Given the description of an element on the screen output the (x, y) to click on. 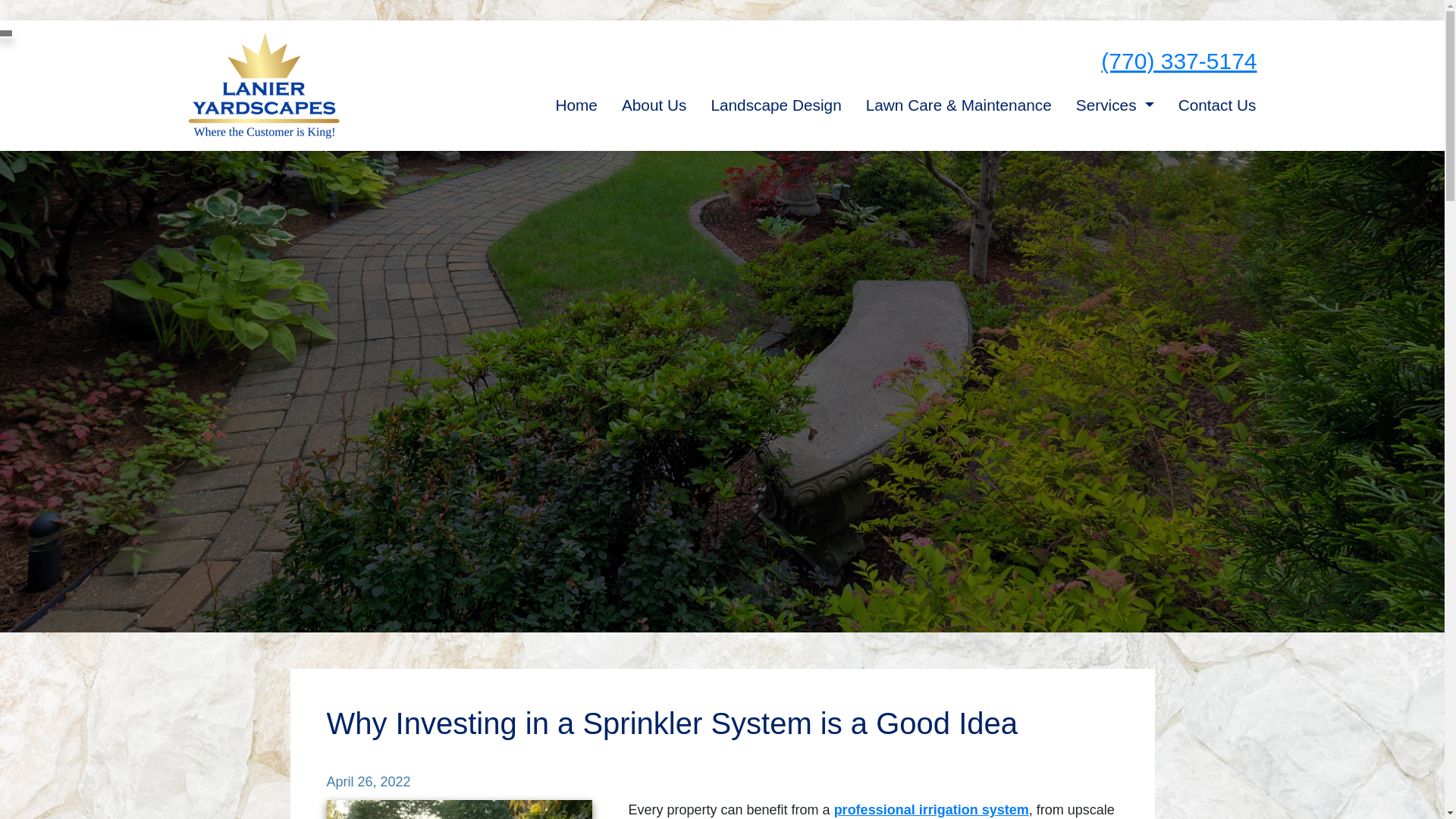
Peachtree City GA Sprinkler Installation (931, 809)
Contact Us (1217, 104)
Home (575, 104)
Landscape Design (775, 104)
Services (1115, 104)
professional irrigation system (931, 809)
Switch to High color contrast version of the website (6, 32)
SKIP TO MAIN CONTENT (10, 5)
About Us (654, 104)
